Given the description of an element on the screen output the (x, y) to click on. 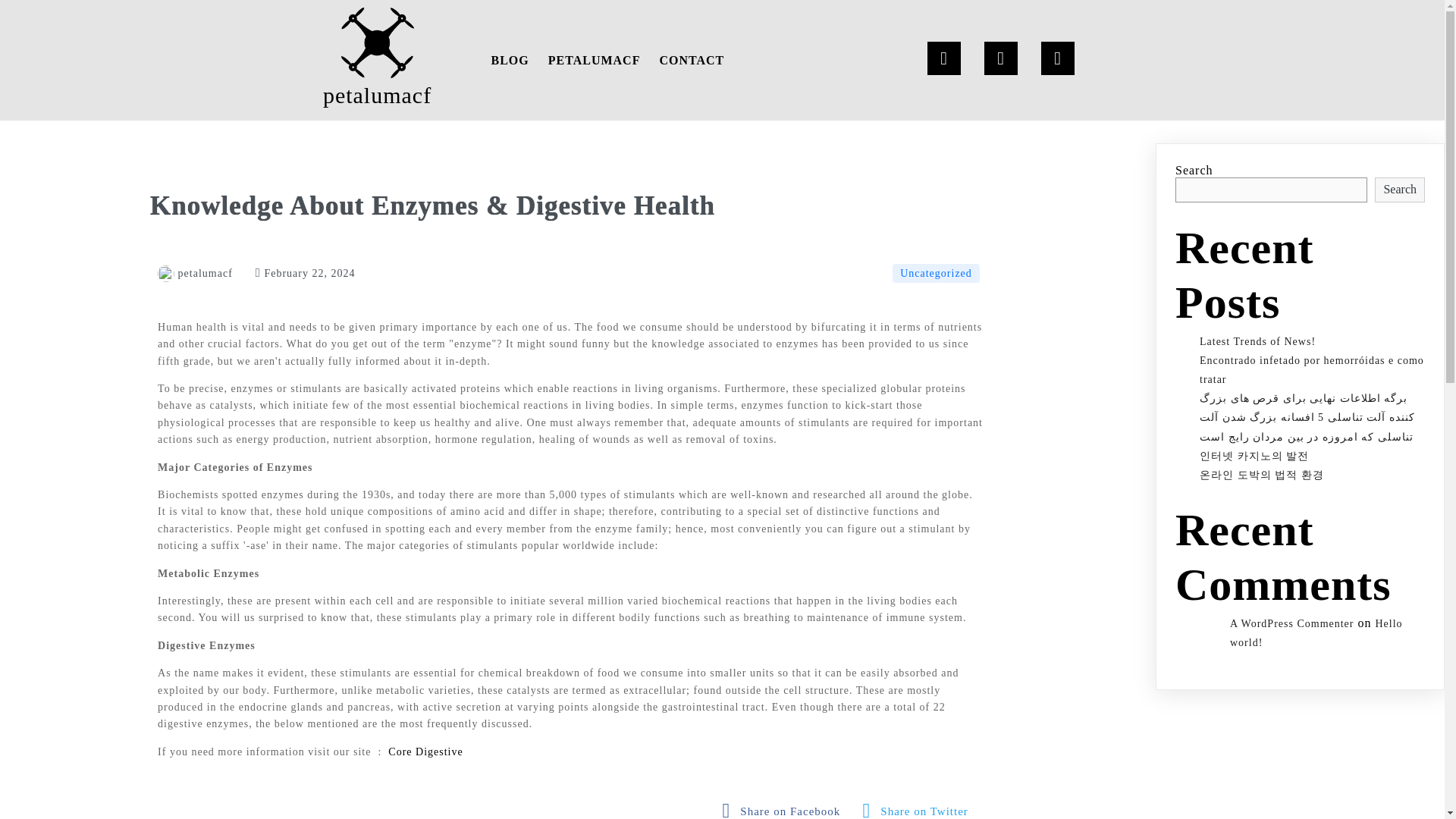
PETALUMACF (593, 59)
February 22, 2024 (305, 272)
Share on Facebook (786, 808)
fab fa-facebook-square (786, 808)
Latest Trends of News! (1257, 341)
Uncategorized (935, 272)
logo (376, 42)
Search (1399, 189)
CONTACT (691, 59)
fab fa-twitter-square (920, 808)
Hello world! (1316, 633)
Core Digestive (425, 751)
Share on Twitter (920, 808)
A WordPress Commenter (1292, 623)
petalumacf (194, 272)
